Given the description of an element on the screen output the (x, y) to click on. 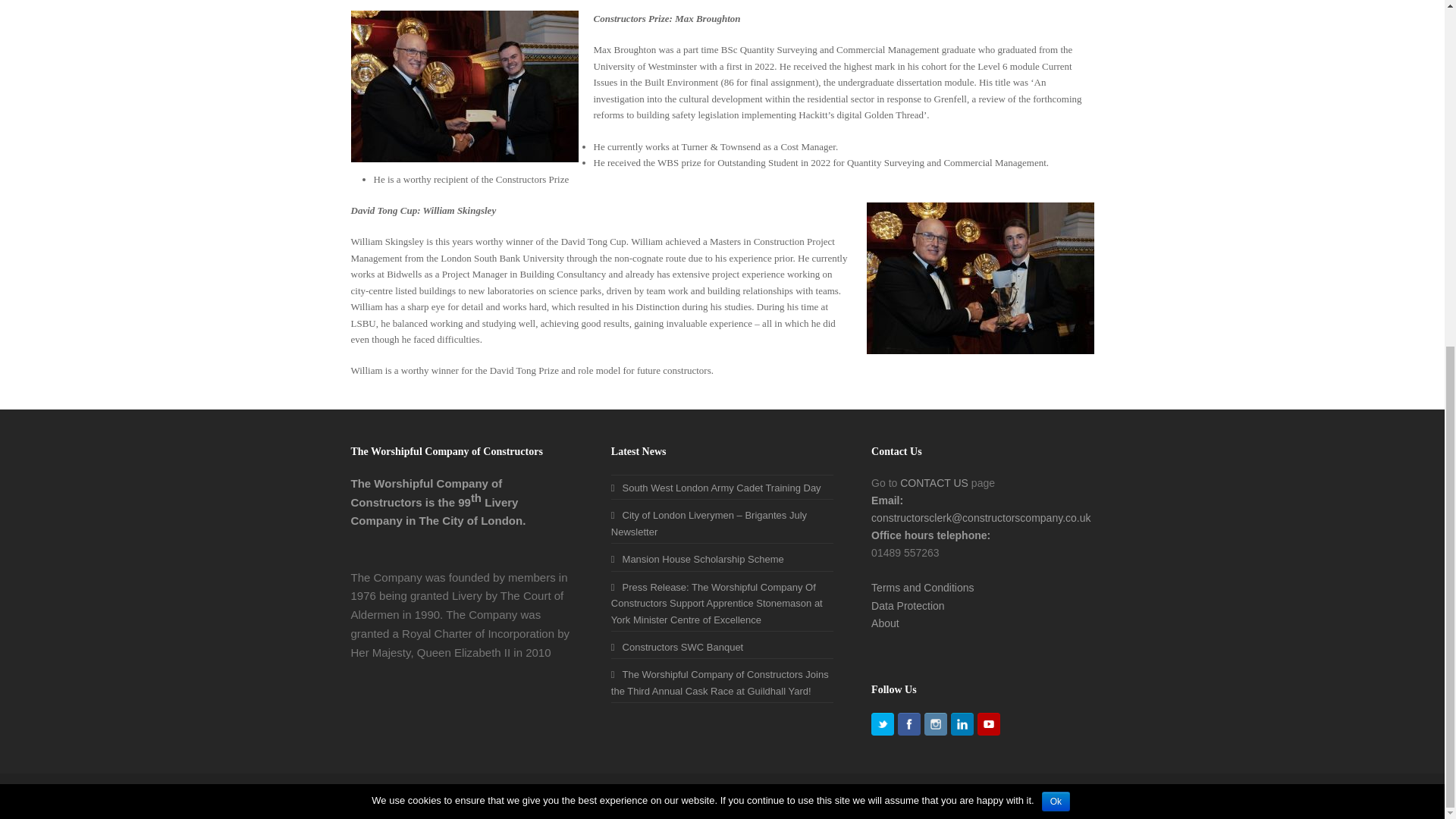
Instagram (935, 723)
Youtube (988, 723)
Twitter (881, 723)
Facebook (909, 723)
LinkedIn (962, 723)
